Given the description of an element on the screen output the (x, y) to click on. 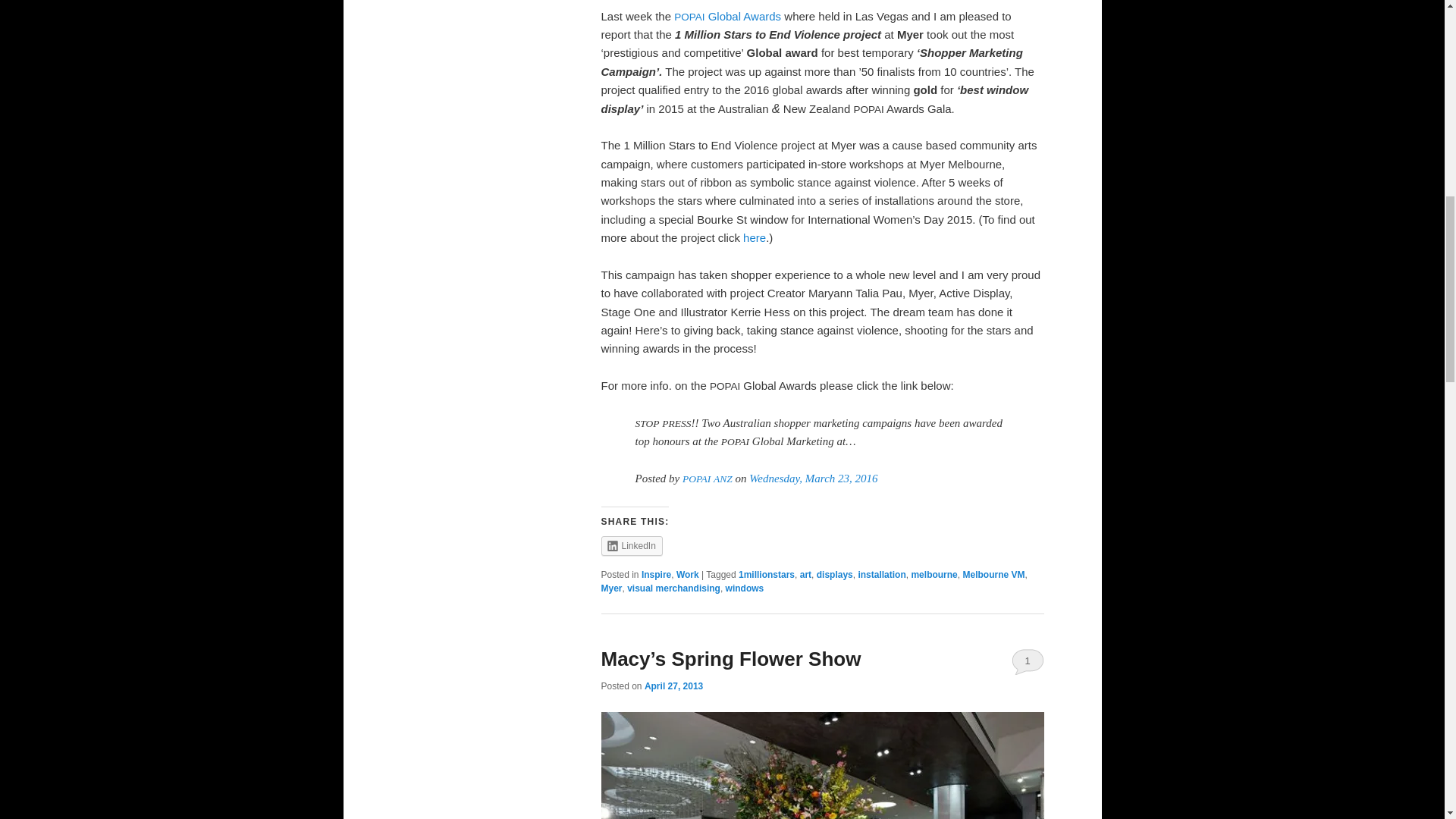
1millionstars (766, 574)
visual merchandising (673, 588)
1 (1027, 660)
displays (834, 574)
Melbourne VM (993, 574)
installation (881, 574)
Work (687, 574)
Click to share on LinkedIn (630, 546)
LinkedIn (630, 546)
windows (744, 588)
Wednesday, March 23, 2016 (813, 478)
6:05 am (674, 685)
POPAI Global Awards (727, 15)
here (753, 237)
melbourne (933, 574)
